Given the description of an element on the screen output the (x, y) to click on. 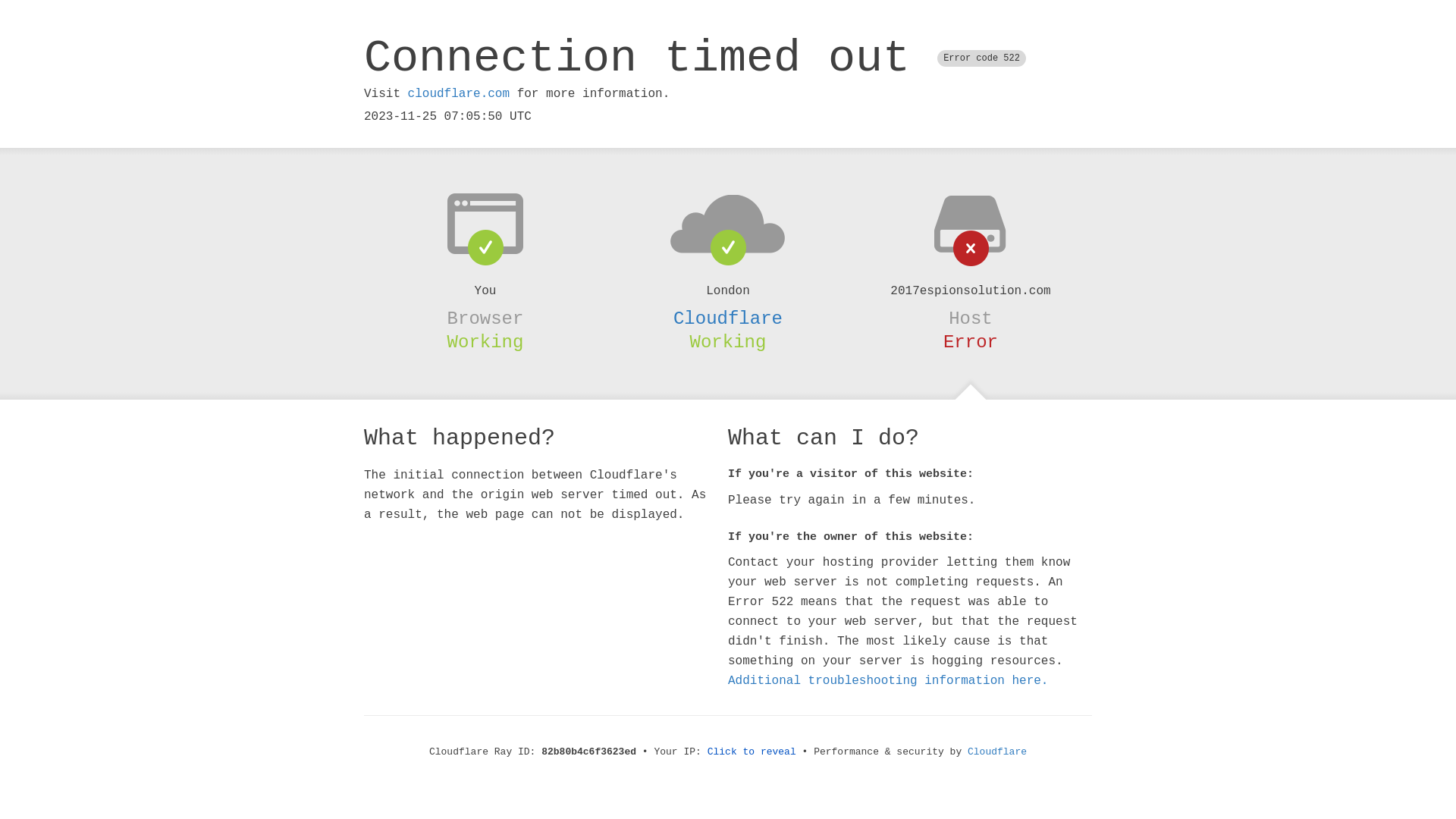
Additional troubleshooting information here. Element type: text (888, 680)
Click to reveal Element type: text (751, 751)
cloudflare.com Element type: text (458, 93)
Cloudflare Element type: text (727, 318)
Cloudflare Element type: text (996, 751)
